Given the description of an element on the screen output the (x, y) to click on. 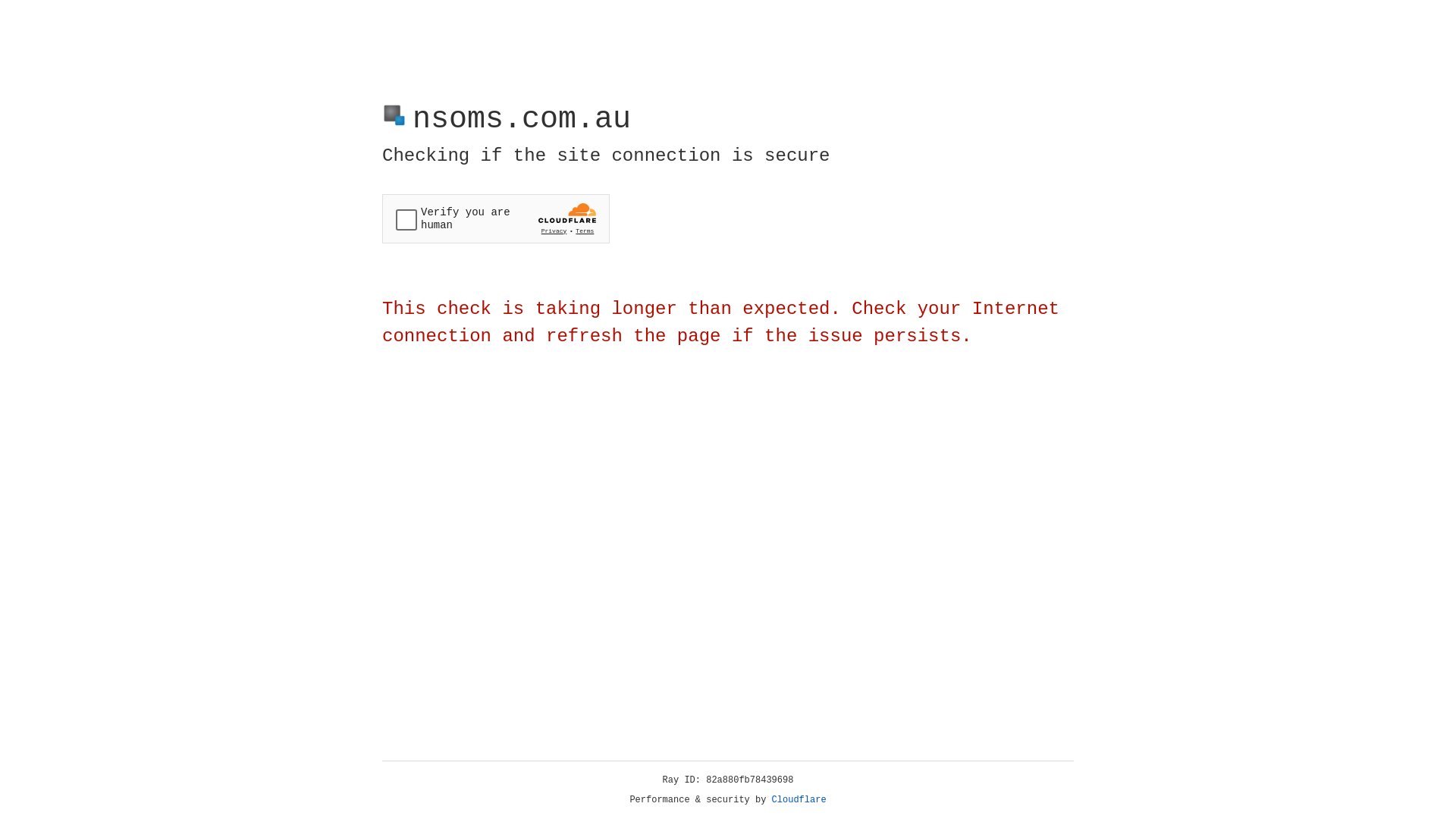
Cloudflare Element type: text (798, 799)
Widget containing a Cloudflare security challenge Element type: hover (495, 218)
